Given the description of an element on the screen output the (x, y) to click on. 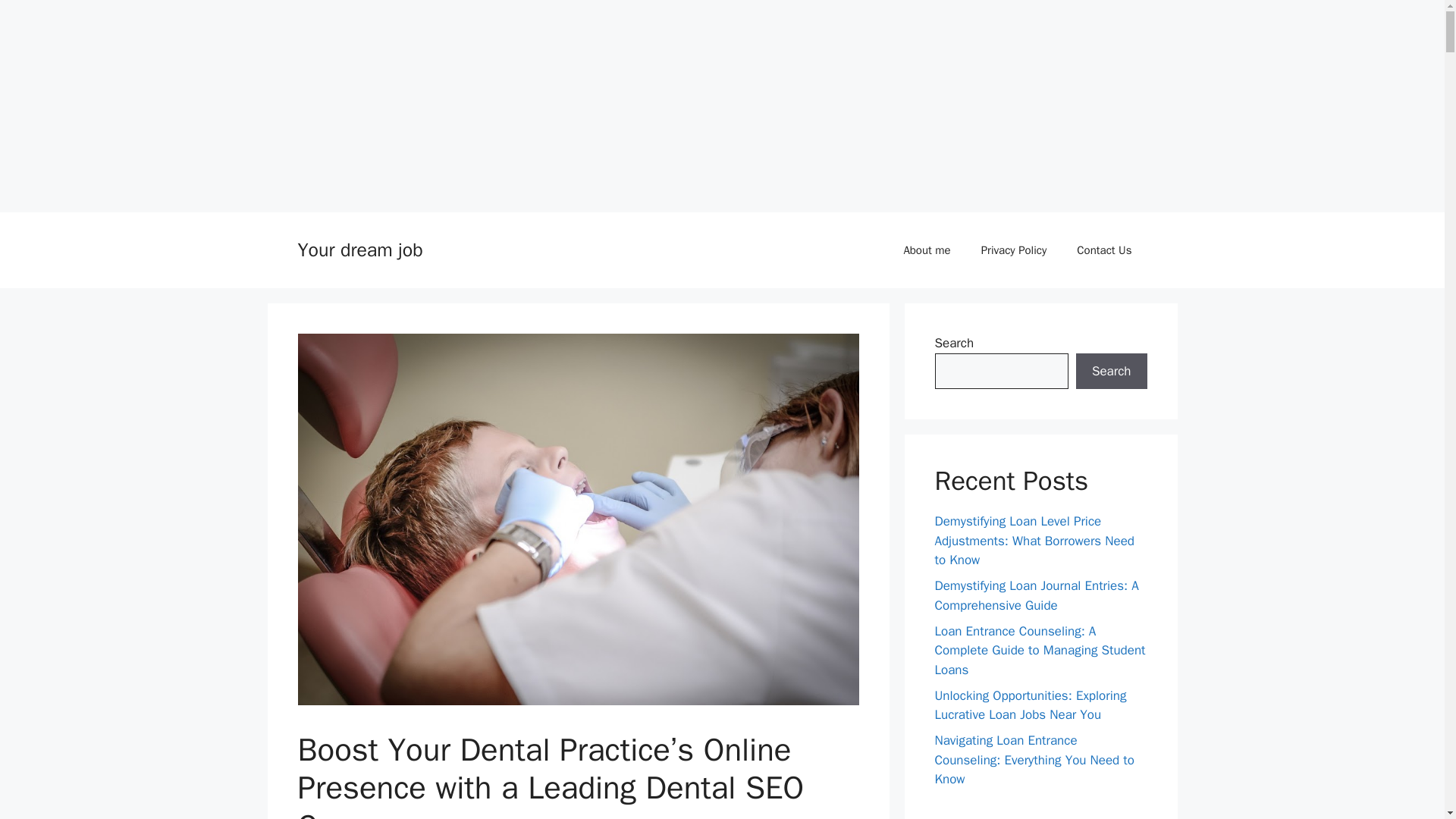
About me (926, 249)
Your dream job (359, 249)
Demystifying Loan Journal Entries: A Comprehensive Guide (1036, 595)
Contact Us (1104, 249)
Privacy Policy (1014, 249)
Search (1111, 370)
